Given the description of an element on the screen output the (x, y) to click on. 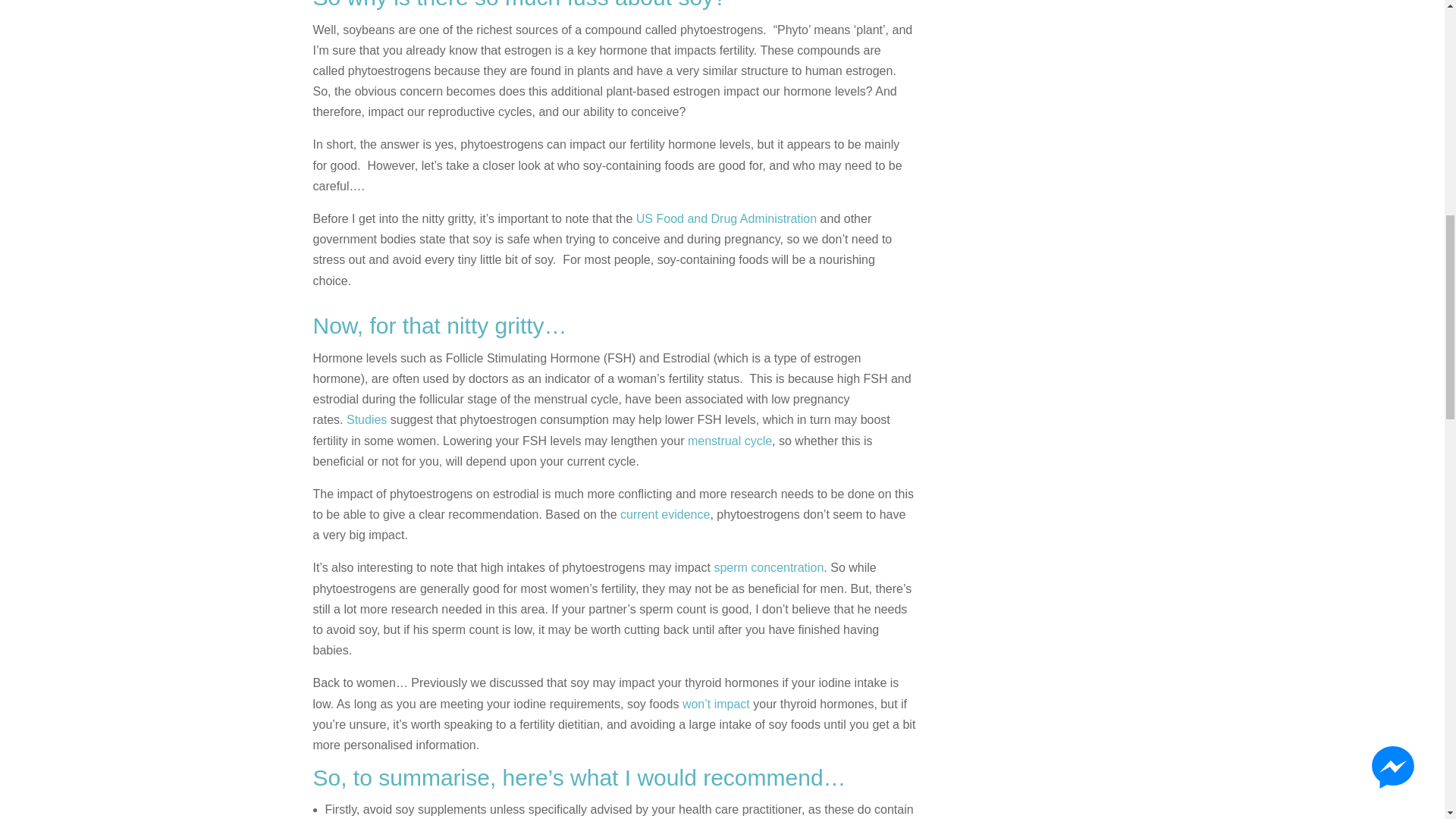
current evidence (665, 513)
sperm concentration (768, 567)
Studies (366, 419)
menstrual cycle (729, 440)
US Food and Drug Administration (726, 218)
